Given the description of an element on the screen output the (x, y) to click on. 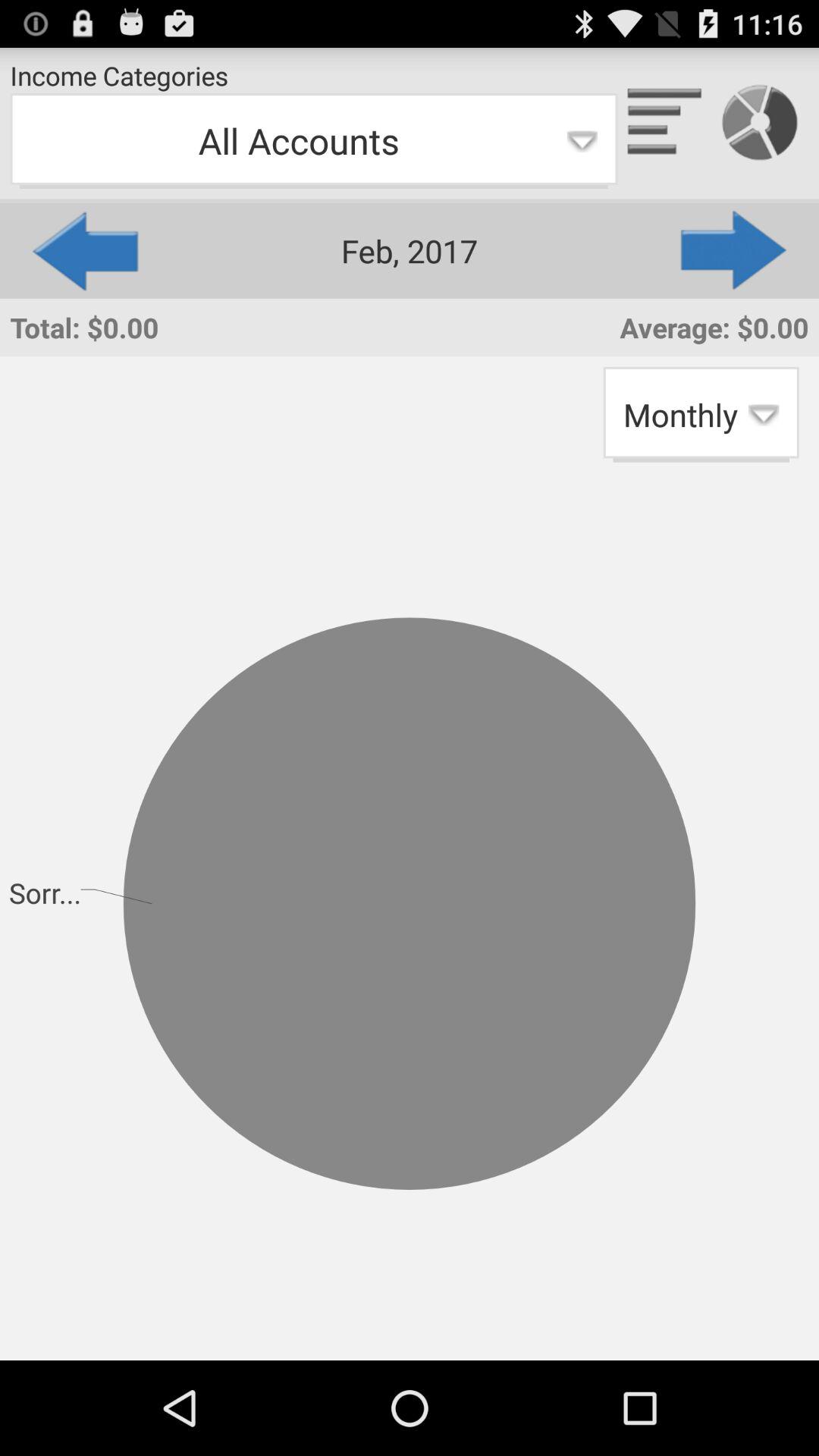
launch the app next to the feb, 2017 icon (83, 250)
